Given the description of an element on the screen output the (x, y) to click on. 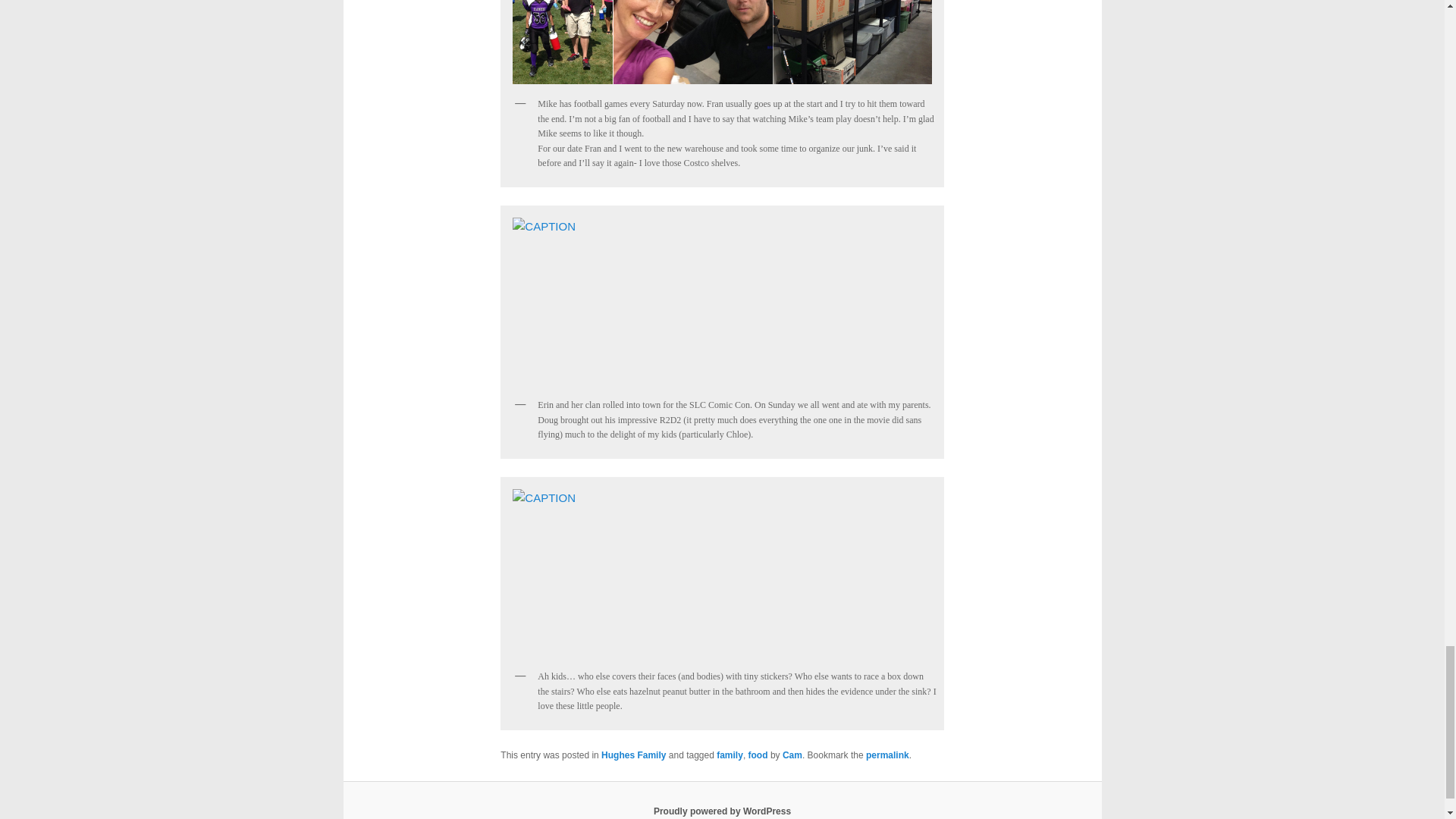
Proudly powered by WordPress (721, 810)
food (758, 755)
Hughes Family (633, 755)
Semantic Personal Publishing Platform (721, 810)
permalink (887, 755)
Cam (792, 755)
family (729, 755)
